Given the description of an element on the screen output the (x, y) to click on. 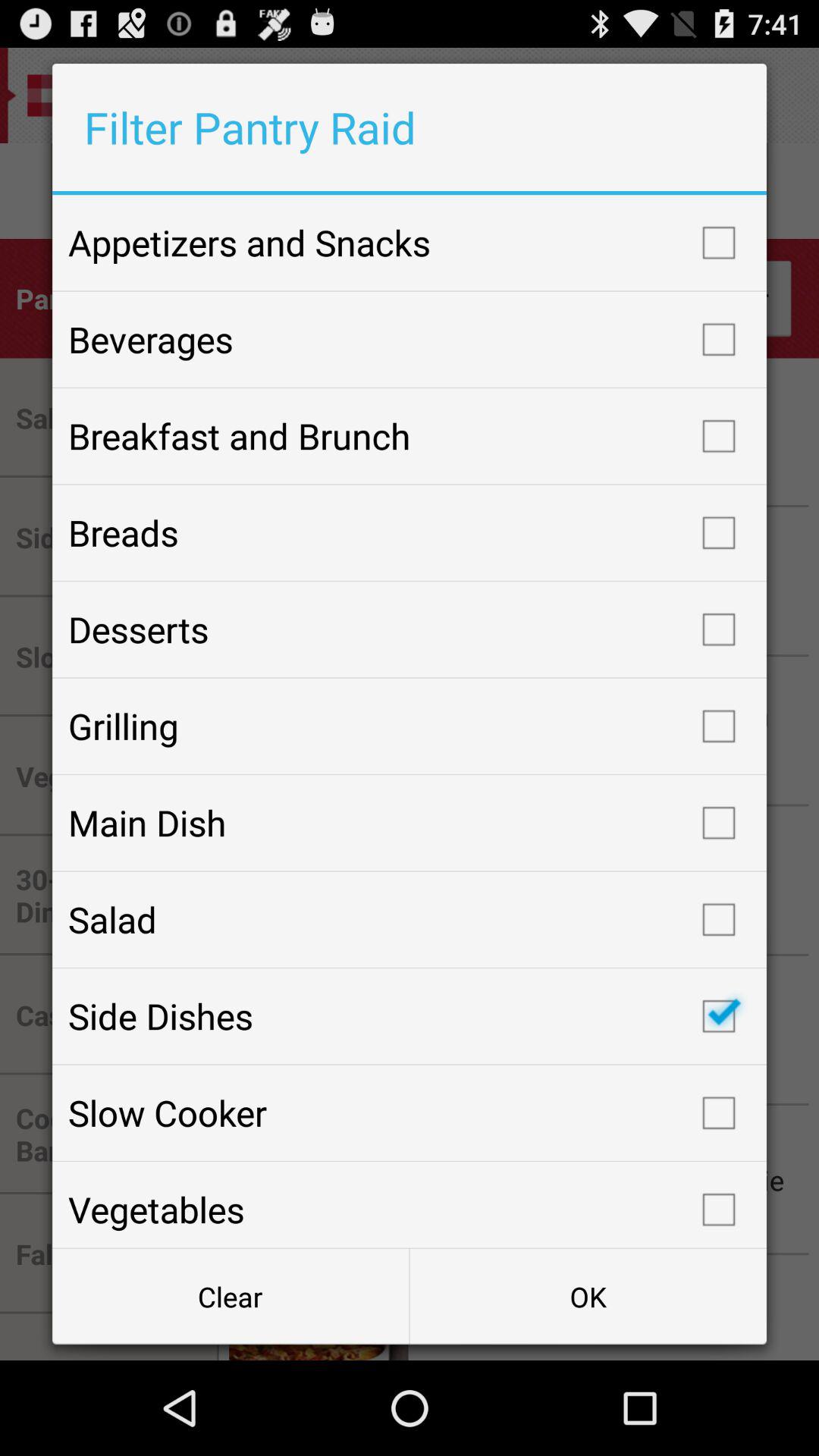
turn on item above vegetables (409, 1112)
